Given the description of an element on the screen output the (x, y) to click on. 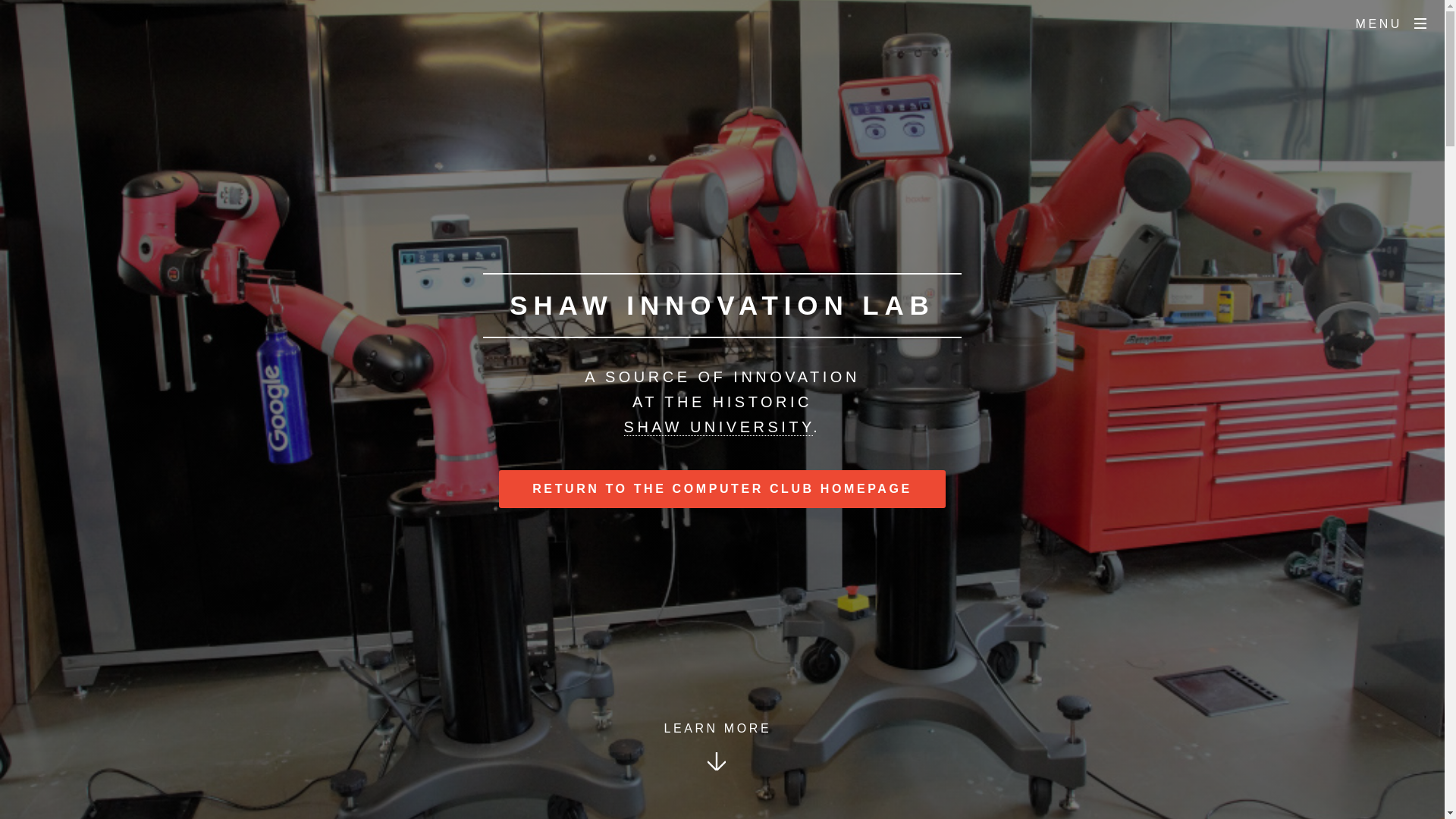
RETURN TO THE COMPUTER CLUB HOMEPAGE (721, 488)
LEARN MORE (715, 767)
LEARN MORE (715, 767)
SHAW UNIVERSITY (718, 426)
